Given the description of an element on the screen output the (x, y) to click on. 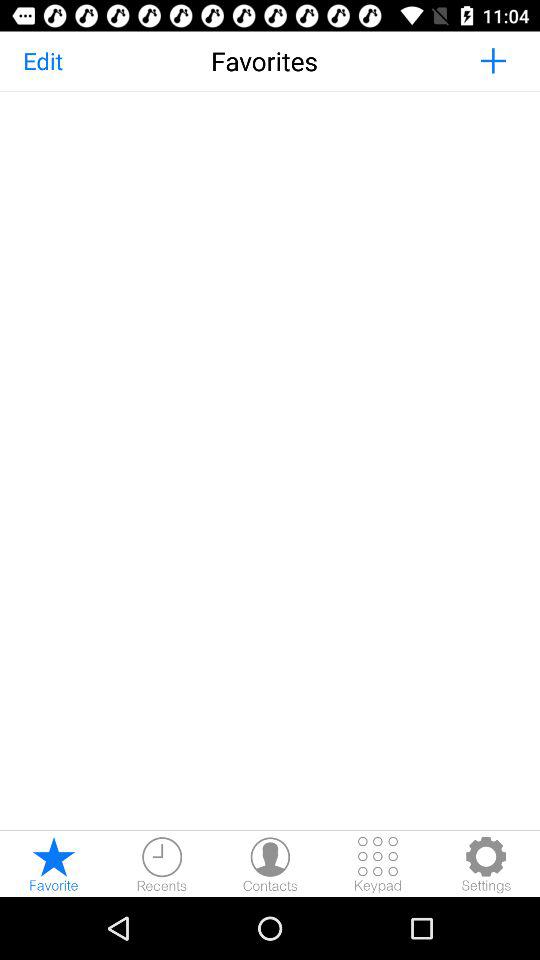
go to recents (161, 864)
